Given the description of an element on the screen output the (x, y) to click on. 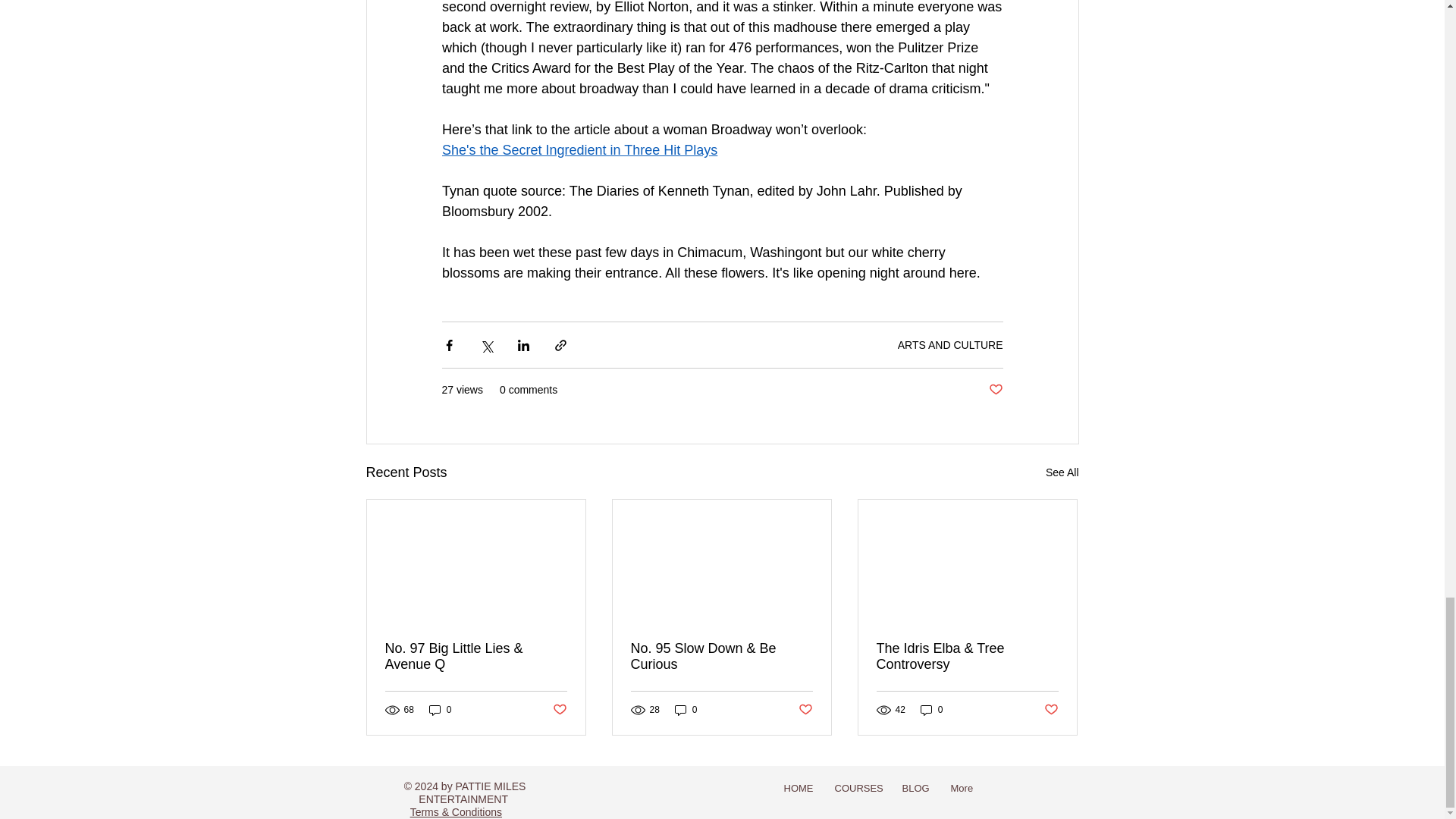
0 (931, 709)
0 (440, 709)
ARTS AND CULTURE (950, 345)
0 (685, 709)
Post not marked as liked (558, 709)
She's the Secret Ingredient in Three Hit Plays (578, 150)
Post not marked as liked (1050, 709)
Post not marked as liked (804, 709)
Post not marked as liked (995, 390)
See All (1061, 472)
